Given the description of an element on the screen output the (x, y) to click on. 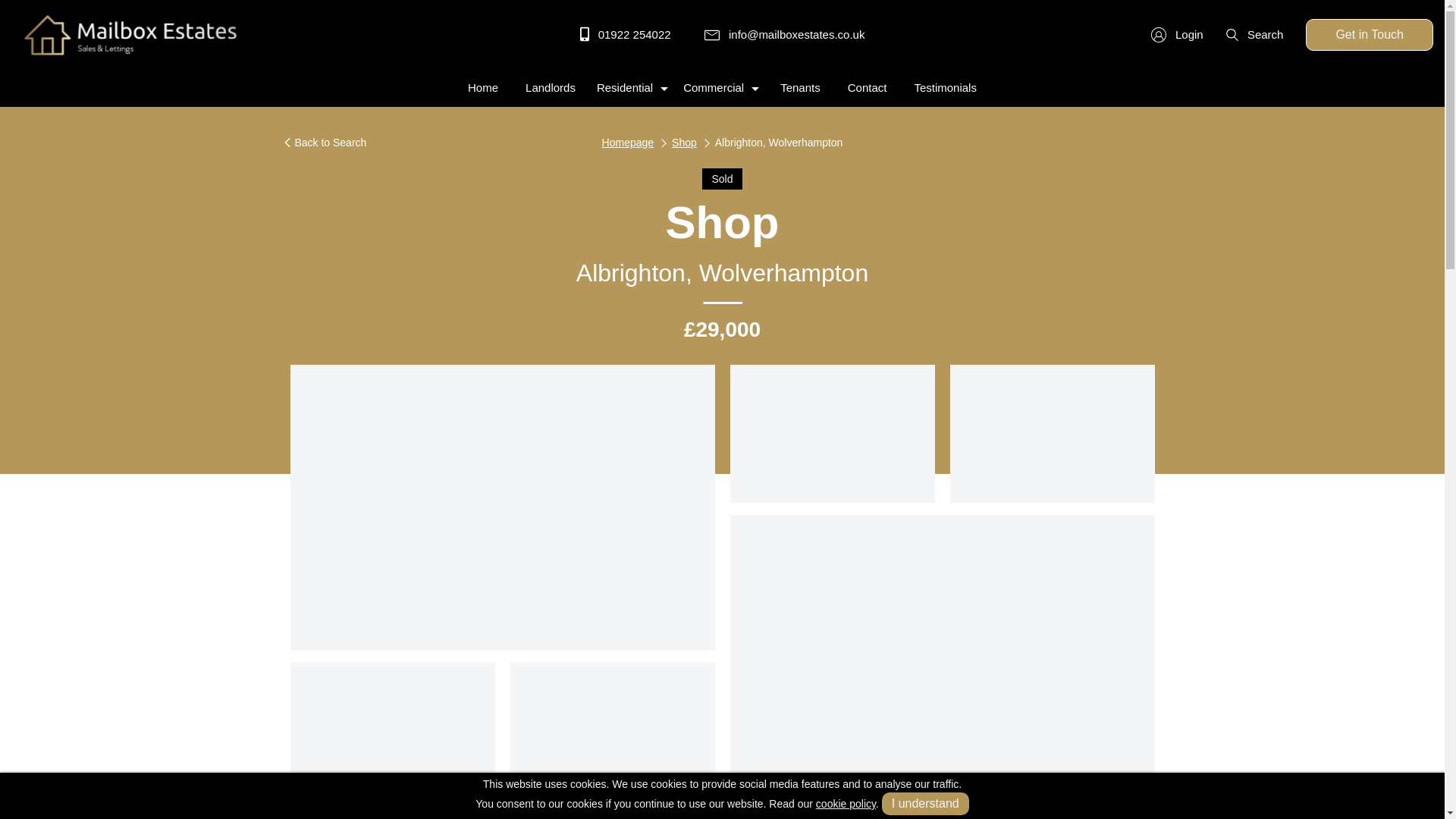
Tenants (800, 88)
Shop (684, 142)
Homepage (627, 142)
Testimonials (944, 88)
Login (1177, 33)
Home (482, 88)
01922 254022 (625, 33)
Search (1254, 33)
Get in Touch (1369, 34)
Back to Search (324, 142)
Landlords (549, 88)
Contact (867, 88)
